Given the description of an element on the screen output the (x, y) to click on. 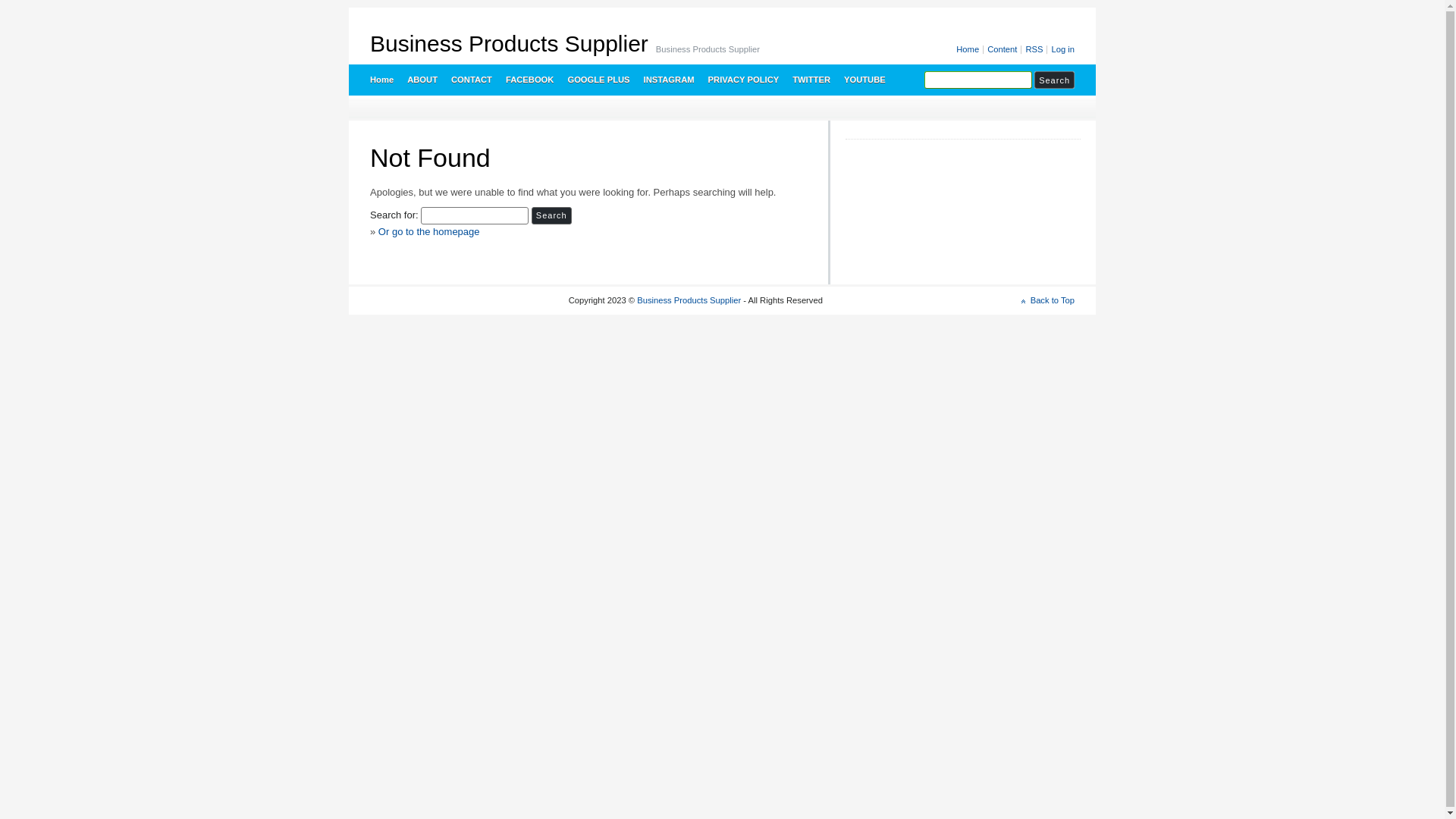
TWITTER Element type: text (810, 79)
Home Element type: text (380, 79)
Home Element type: text (968, 49)
INSTAGRAM Element type: text (668, 79)
YOUTUBE Element type: text (863, 79)
GOOGLE PLUS Element type: text (597, 79)
Log in Element type: text (1061, 49)
RSS Element type: text (1035, 49)
CONTACT Element type: text (470, 79)
Search Element type: text (1054, 79)
Business Products Supplier Element type: text (688, 299)
Content Element type: text (1003, 49)
Back to Top Element type: text (1047, 299)
PRIVACY POLICY Element type: text (742, 79)
Search Element type: text (551, 215)
Or go to the homepage Element type: text (429, 231)
Business Products Supplier Element type: text (509, 43)
ABOUT Element type: text (421, 79)
FACEBOOK Element type: text (529, 79)
